Given the description of an element on the screen output the (x, y) to click on. 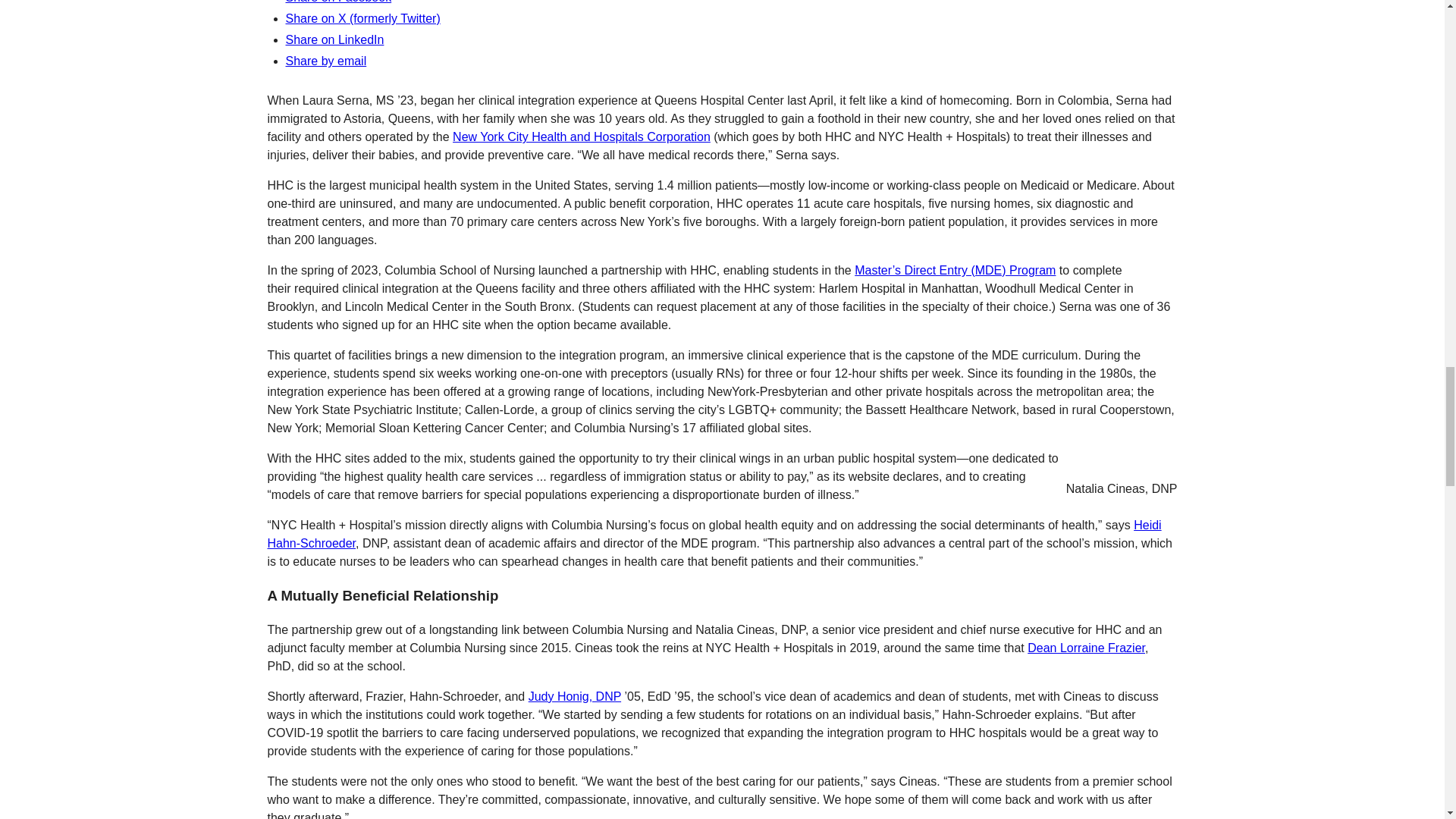
Share this page on Facebook (338, 2)
Share this page on LinkedIn. (334, 39)
Share this page through email. (325, 60)
